Given the description of an element on the screen output the (x, y) to click on. 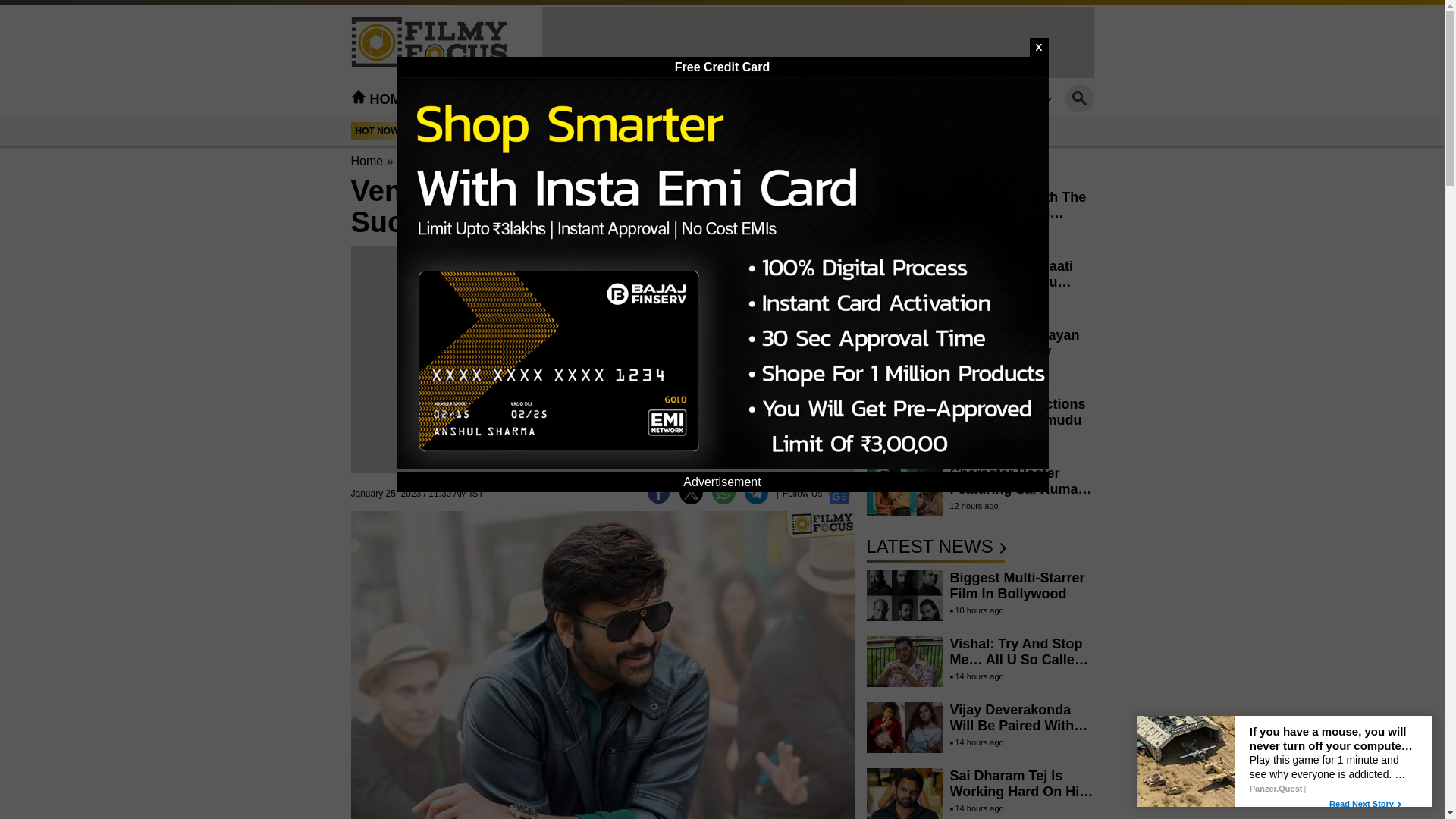
OTT (644, 98)
FOCUS (821, 98)
Focus (821, 98)
Web Stories (728, 98)
OTT (644, 98)
Advertisement (817, 40)
X (1038, 46)
COLLECTIONS (917, 98)
HOME (380, 99)
Free Credit Card (721, 66)
Home (366, 160)
Advertisement (602, 367)
Reviews (576, 98)
Movie News (429, 160)
FaceBook (657, 492)
